Given the description of an element on the screen output the (x, y) to click on. 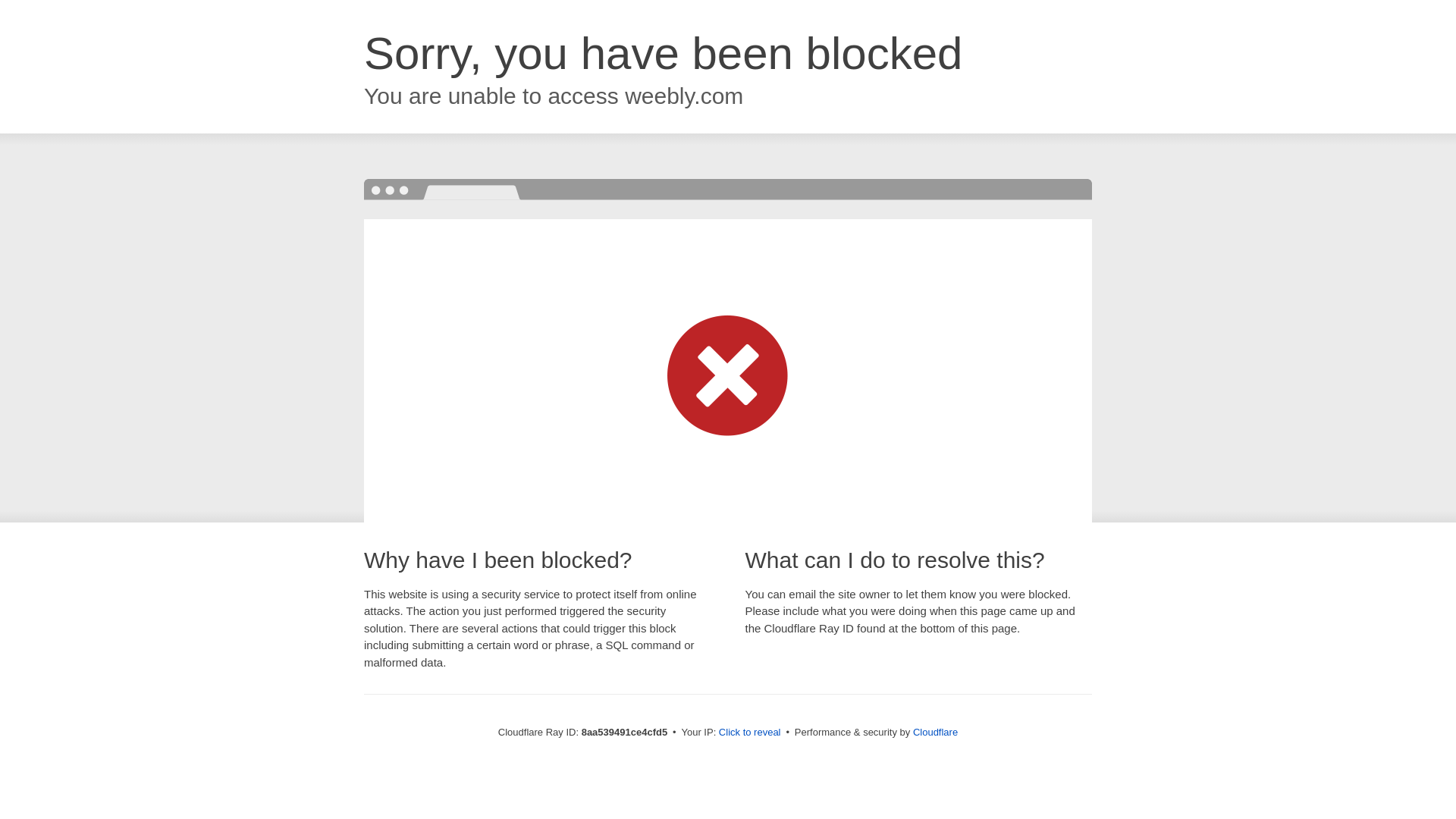
Click to reveal (749, 732)
Cloudflare (935, 731)
